Given the description of an element on the screen output the (x, y) to click on. 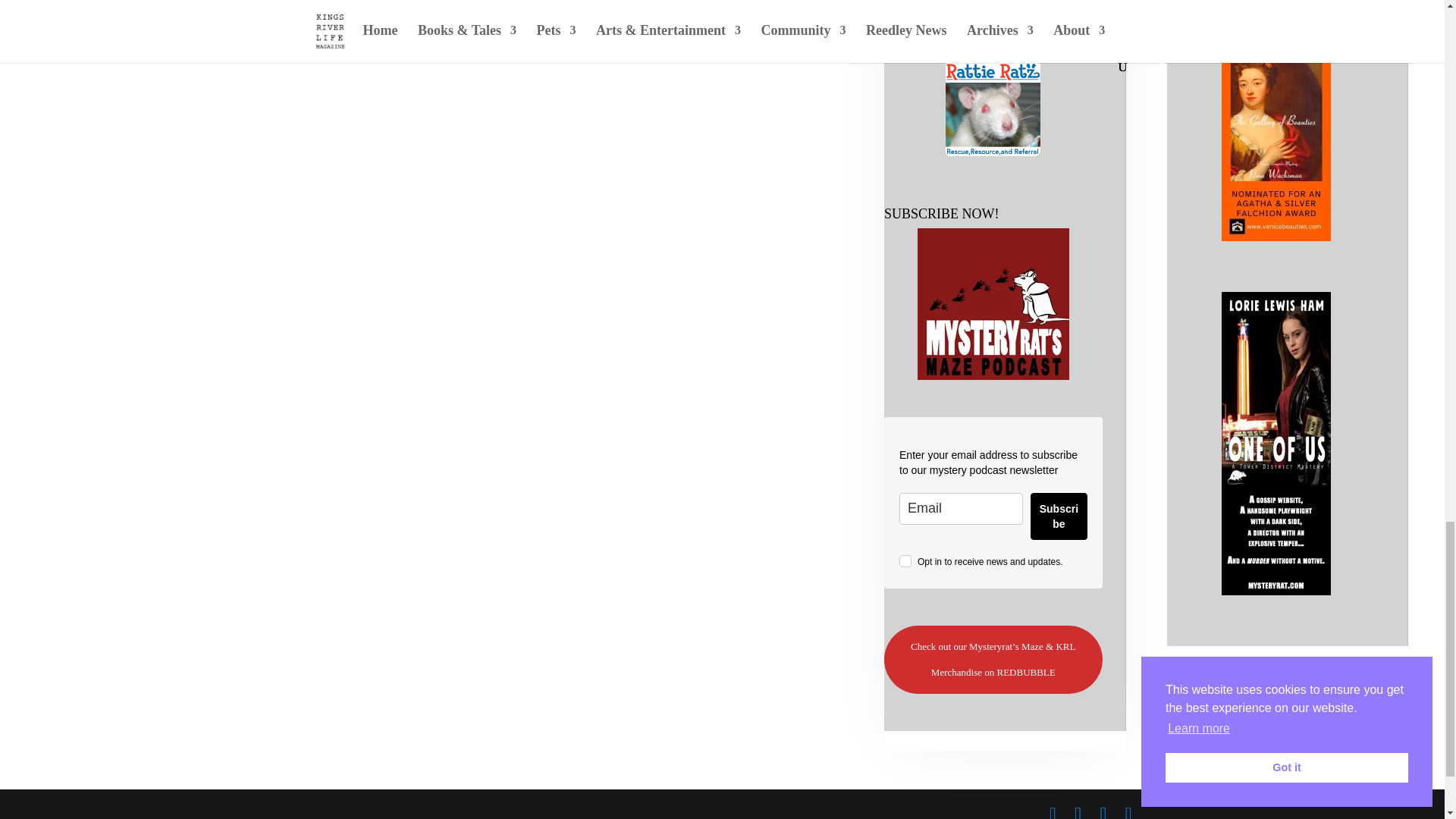
Subscribe now! (992, 304)
